Given the description of an element on the screen output the (x, y) to click on. 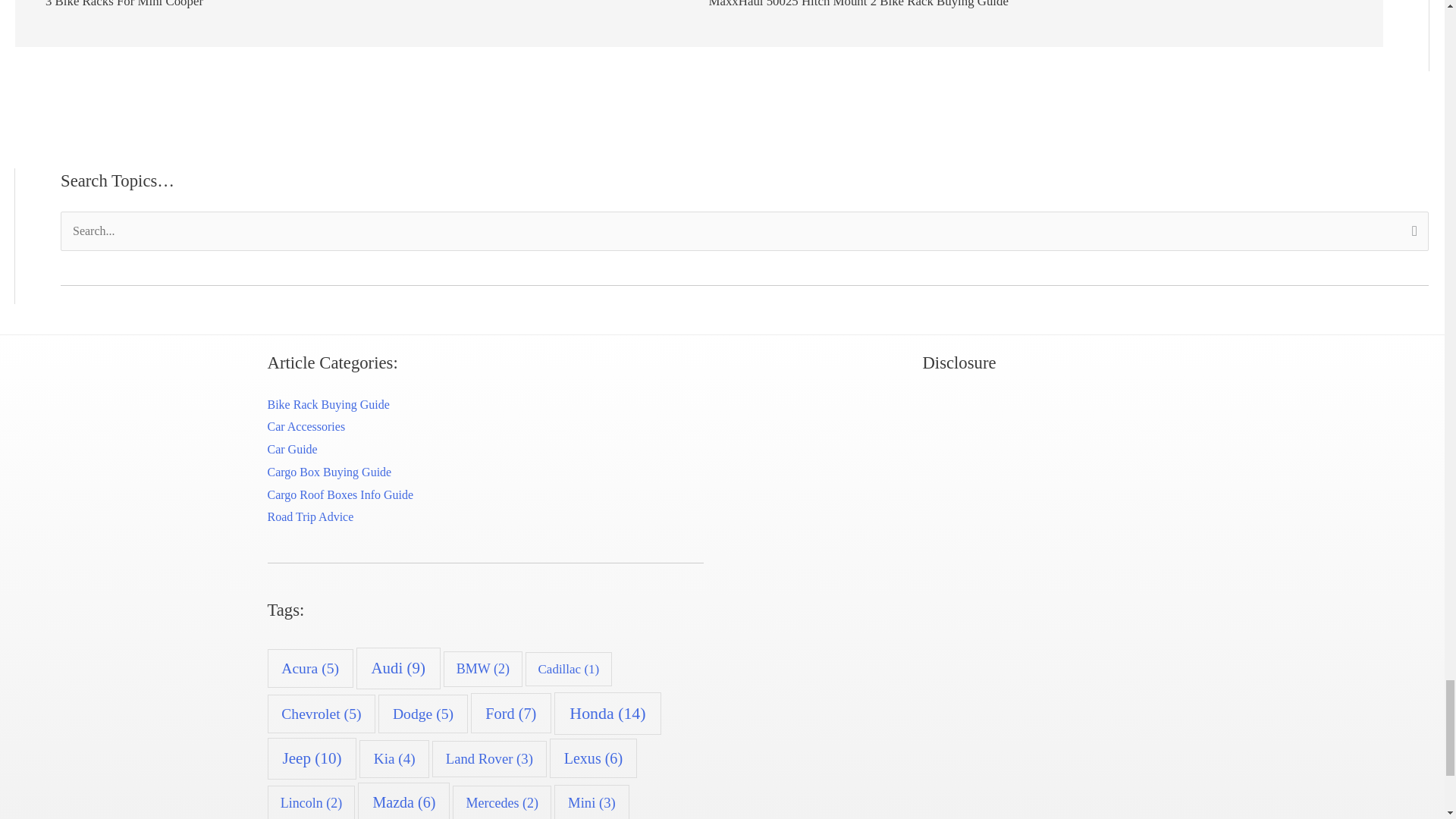
Disclosure (959, 506)
